Given the description of an element on the screen output the (x, y) to click on. 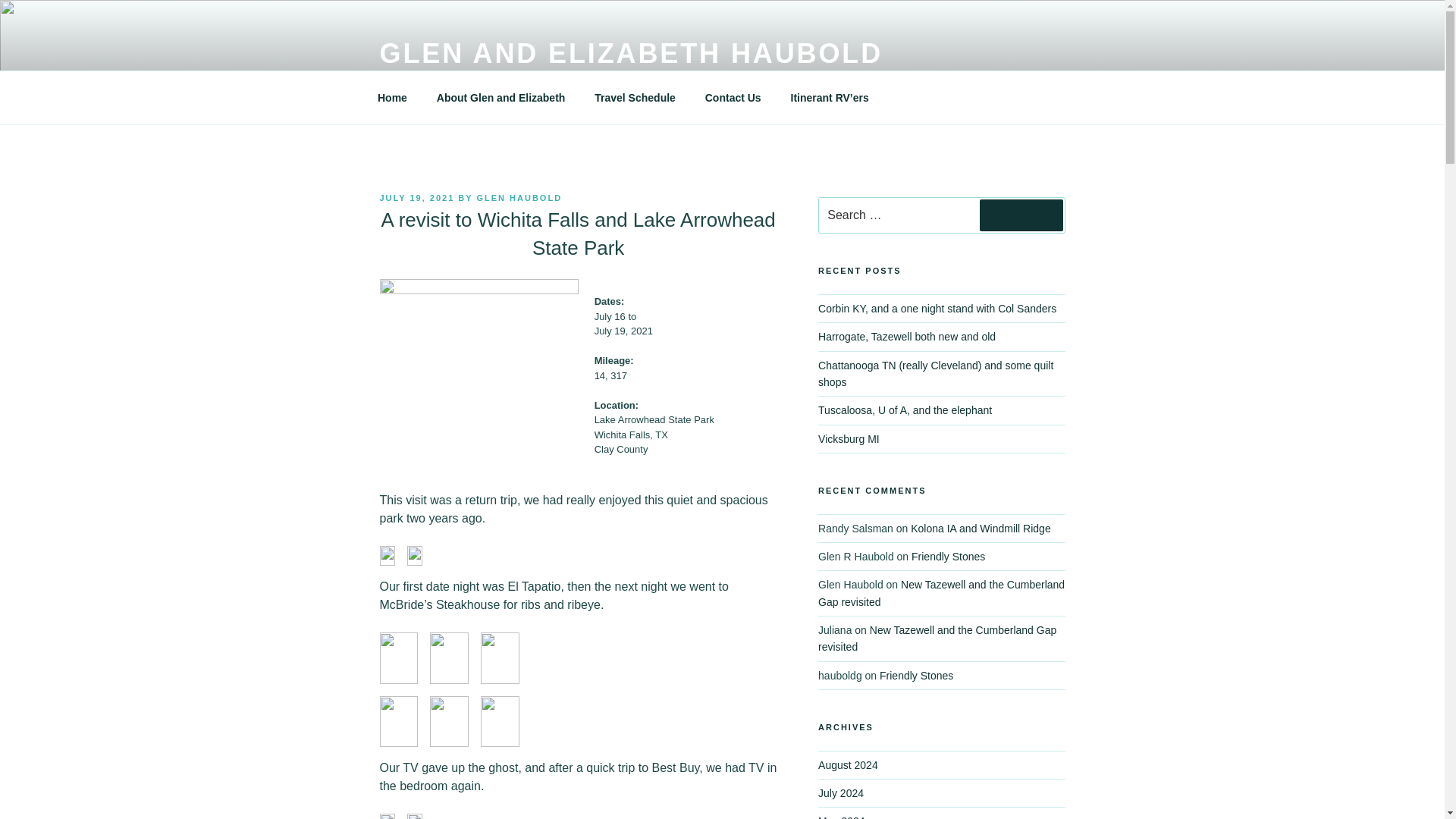
About Glen and Elizabeth (500, 97)
Kolona IA and Windmill Ridge (980, 527)
GLEN HAUBOLD (519, 197)
Tuscaloosa, U of A, and the elephant (904, 410)
Harrogate, Tazewell both new and old (906, 336)
Friendly Stones (916, 675)
July 2024 (840, 793)
JULY 19, 2021 (416, 197)
May 2024 (841, 816)
GLEN AND ELIZABETH HAUBOLD (630, 52)
